Given the description of an element on the screen output the (x, y) to click on. 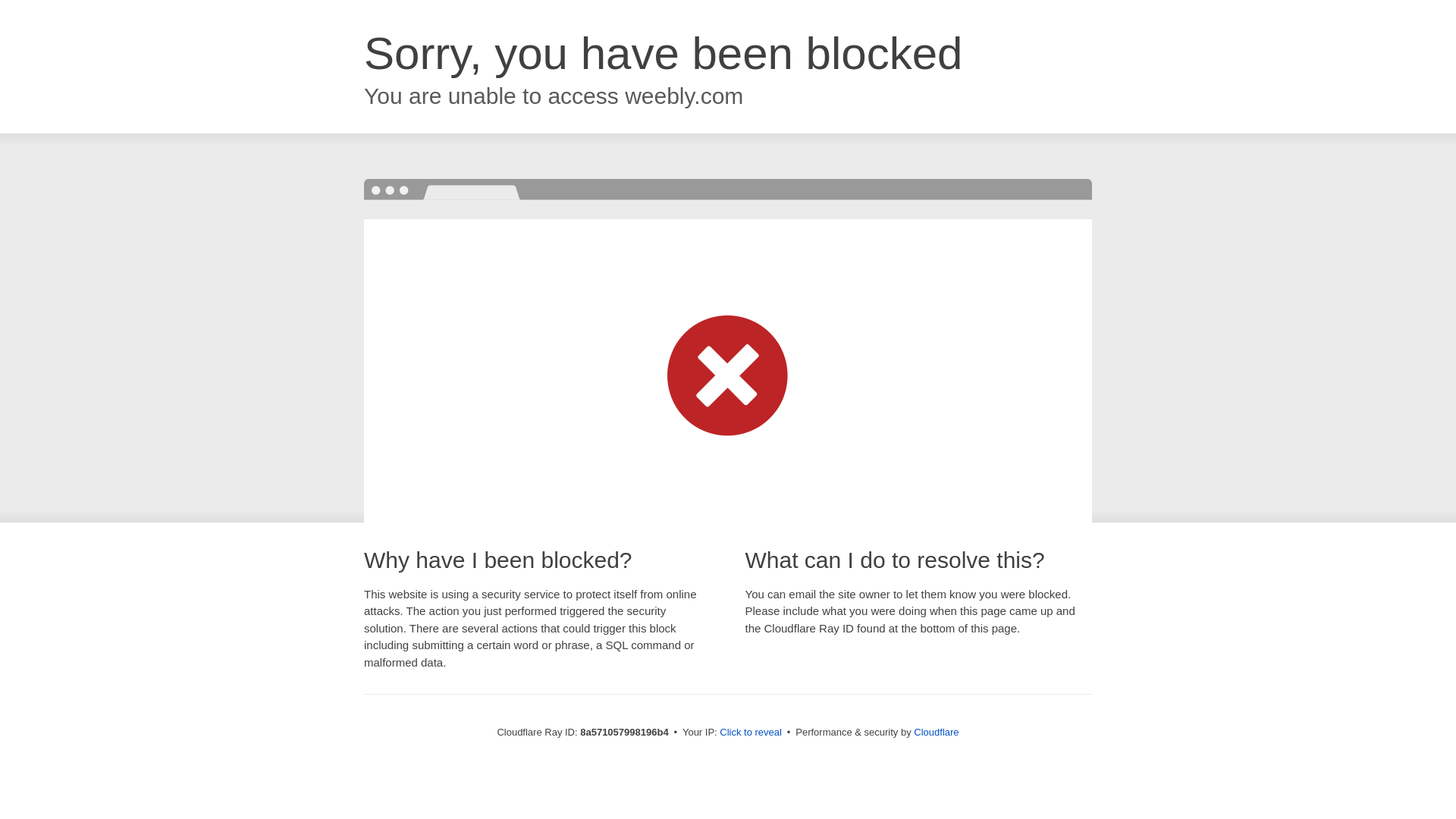
Click to reveal (750, 732)
Cloudflare (936, 731)
